Given the description of an element on the screen output the (x, y) to click on. 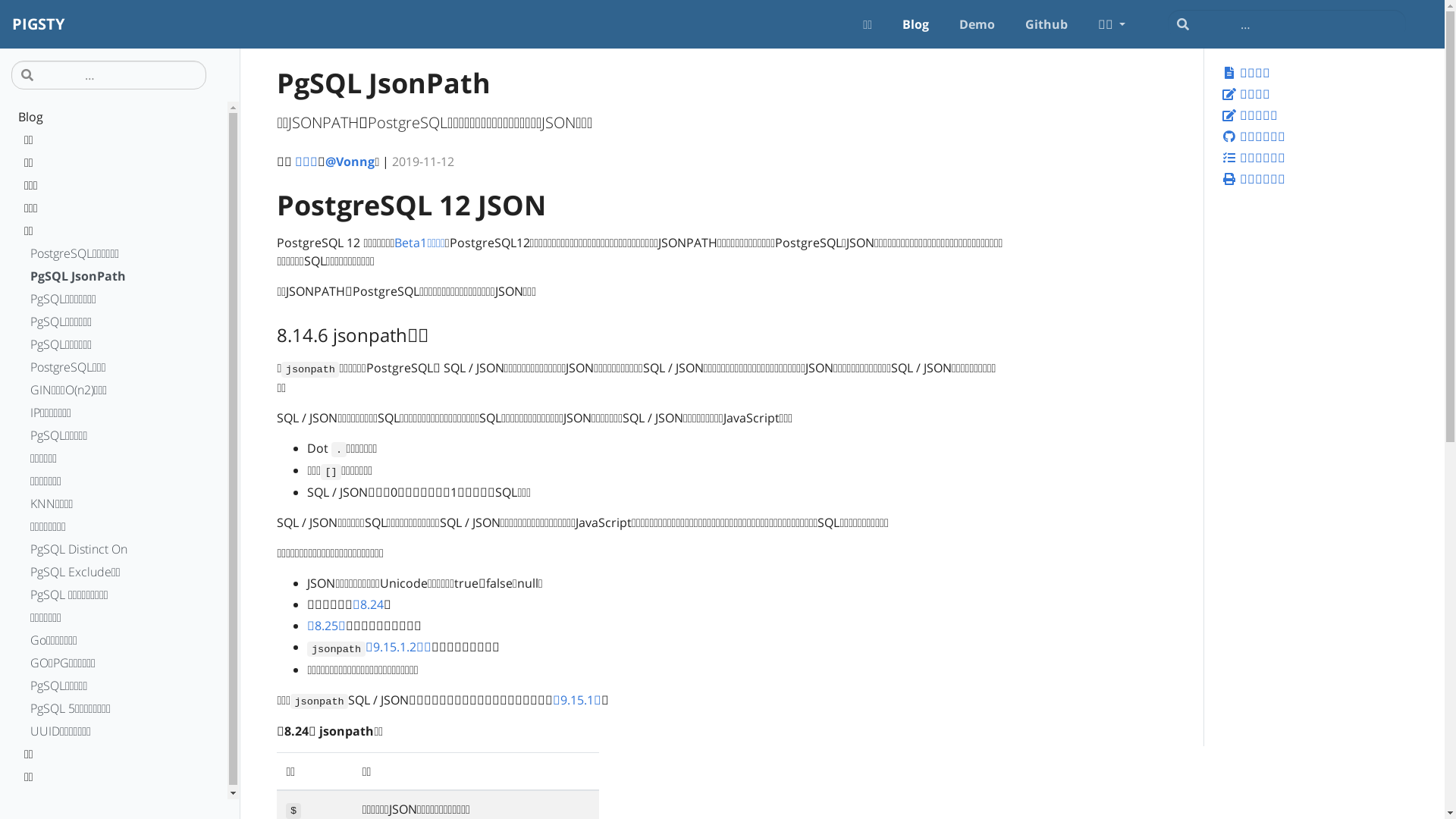
Demo Element type: text (977, 24)
PgSQL JsonPath Element type: text (113, 277)
Blog Element type: text (915, 24)
Blog Element type: text (113, 118)
Github Element type: text (1046, 24)
PIGSTY Element type: text (38, 24)
@Vonng Element type: text (349, 161)
PgSQL Distinct On Element type: text (113, 550)
